Given the description of an element on the screen output the (x, y) to click on. 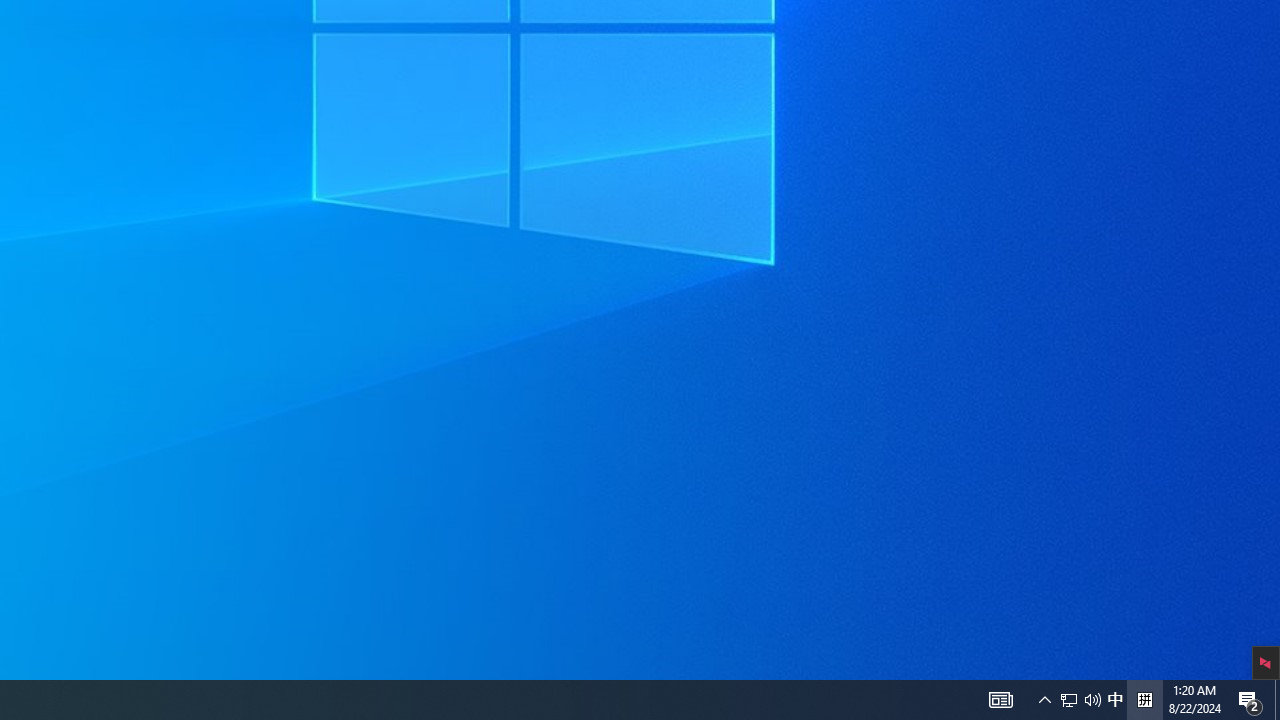
Notification Chevron (1044, 699)
User Promoted Notification Area (1080, 699)
Tray Input Indicator - Chinese (Simplified, China) (1144, 699)
Q2790: 100% (1092, 699)
Action Center, 2 new notifications (1069, 699)
Show desktop (1250, 699)
AutomationID: 4105 (1115, 699)
